Given the description of an element on the screen output the (x, y) to click on. 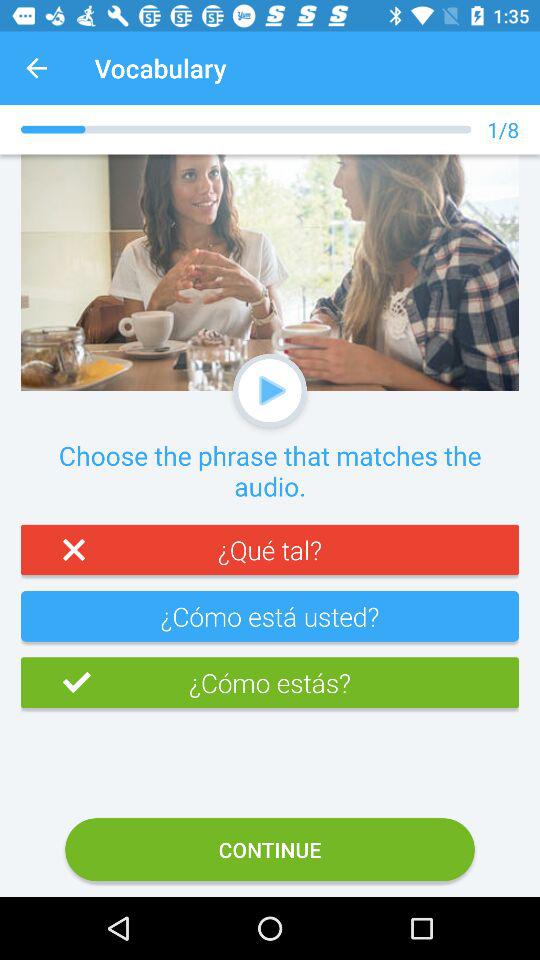
click on the red color text tab (269, 558)
select the first image on the web page (269, 272)
click on the tick symbol on the green color text tab (56, 682)
click the 2nd button above the continue button on the web page (269, 623)
